Given the description of an element on the screen output the (x, y) to click on. 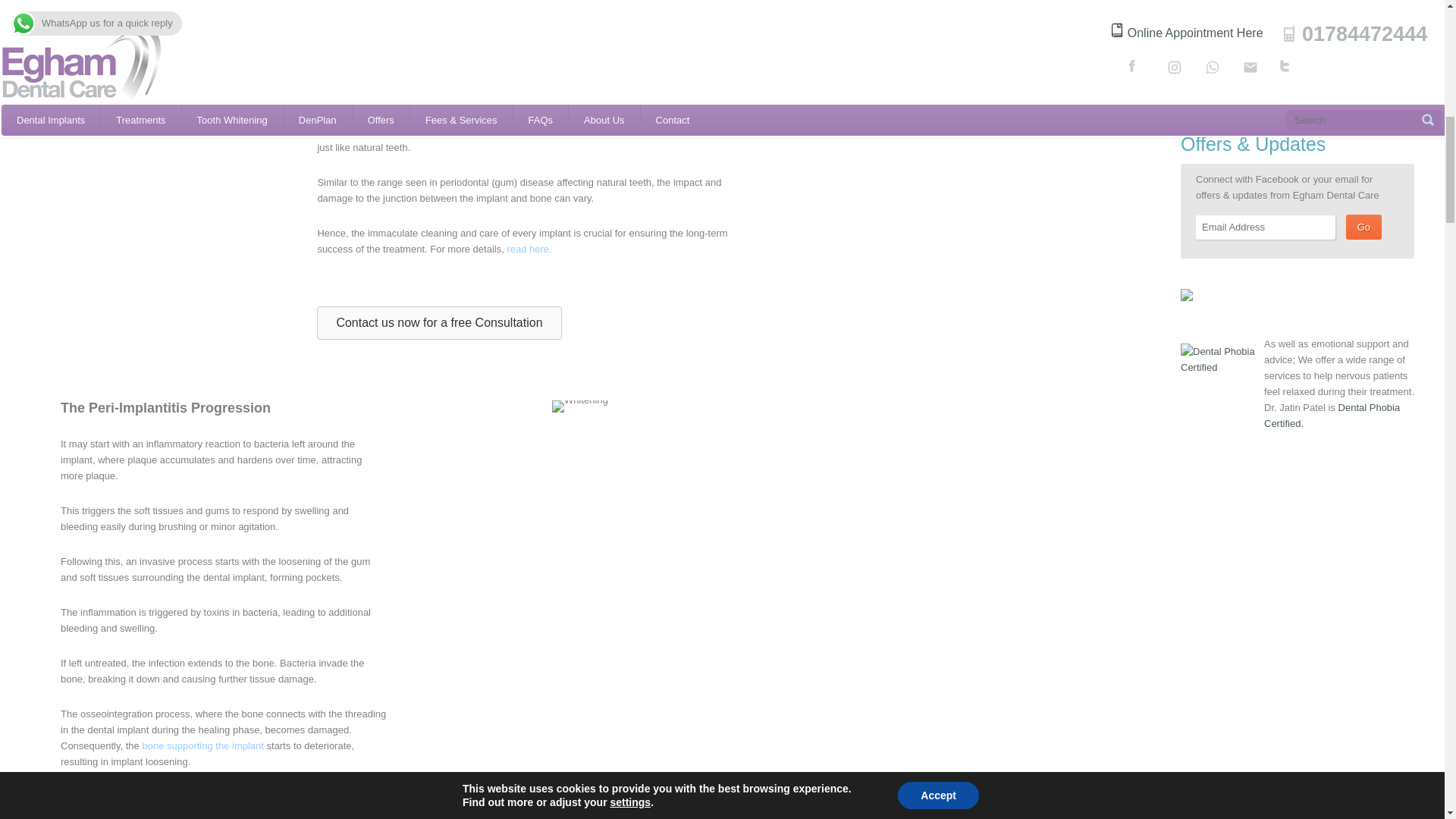
Smile Makeover (173, 59)
Whitening (579, 406)
Go (1363, 226)
Submit Request (1250, 59)
